Given the description of an element on the screen output the (x, y) to click on. 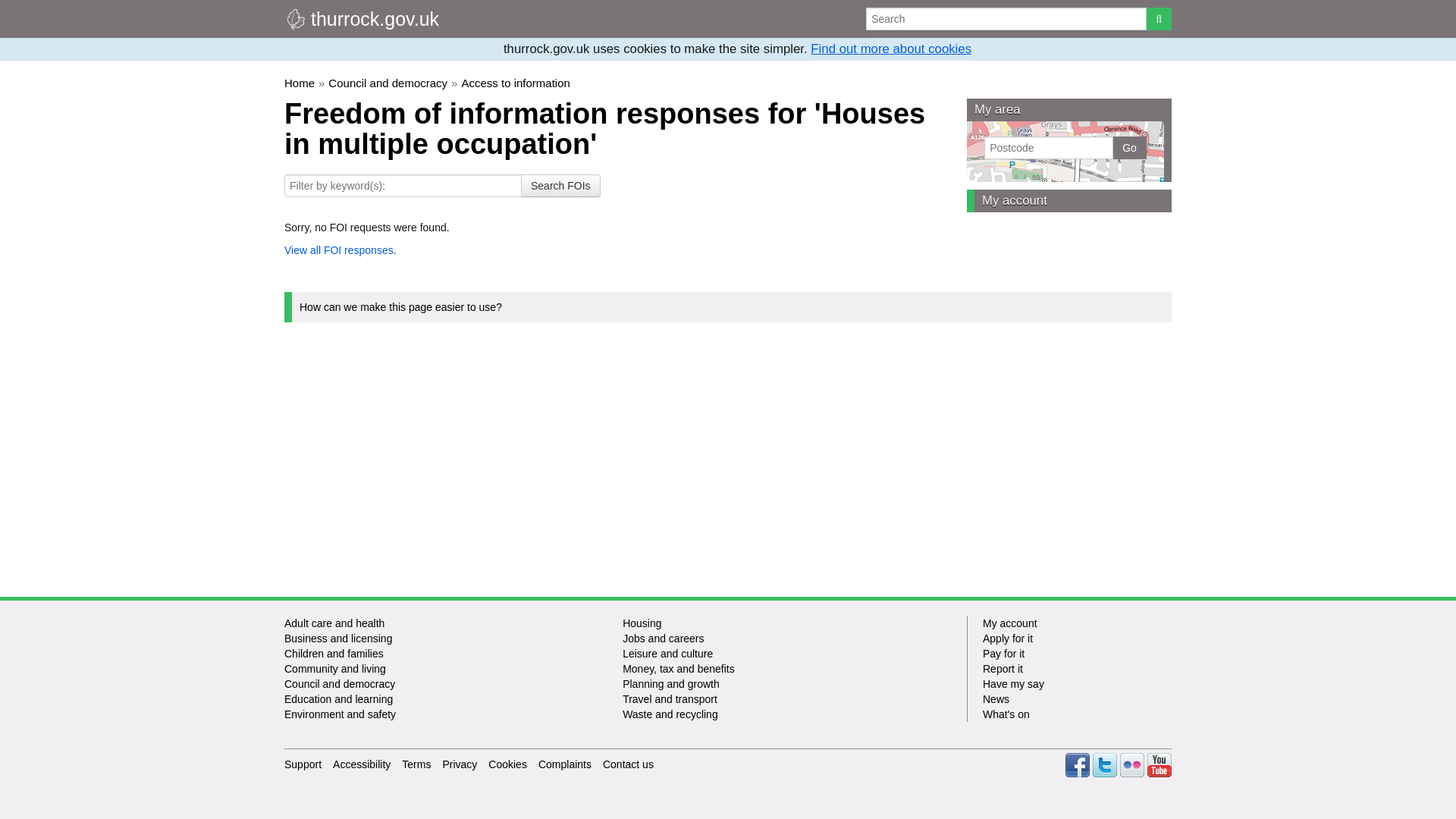
Environment and safety (339, 714)
thurrock.gov.uk (361, 18)
Home (298, 82)
Report it (1077, 668)
Home (361, 18)
Waste and recycling (670, 714)
Have my say (1077, 683)
Children and families (333, 653)
Planning and growth (671, 684)
Education and learning (338, 698)
Support (302, 764)
Community and living (334, 668)
My account (1069, 200)
Travel and transport (670, 698)
Thurrock Council on Facebook (1077, 764)
